Given the description of an element on the screen output the (x, y) to click on. 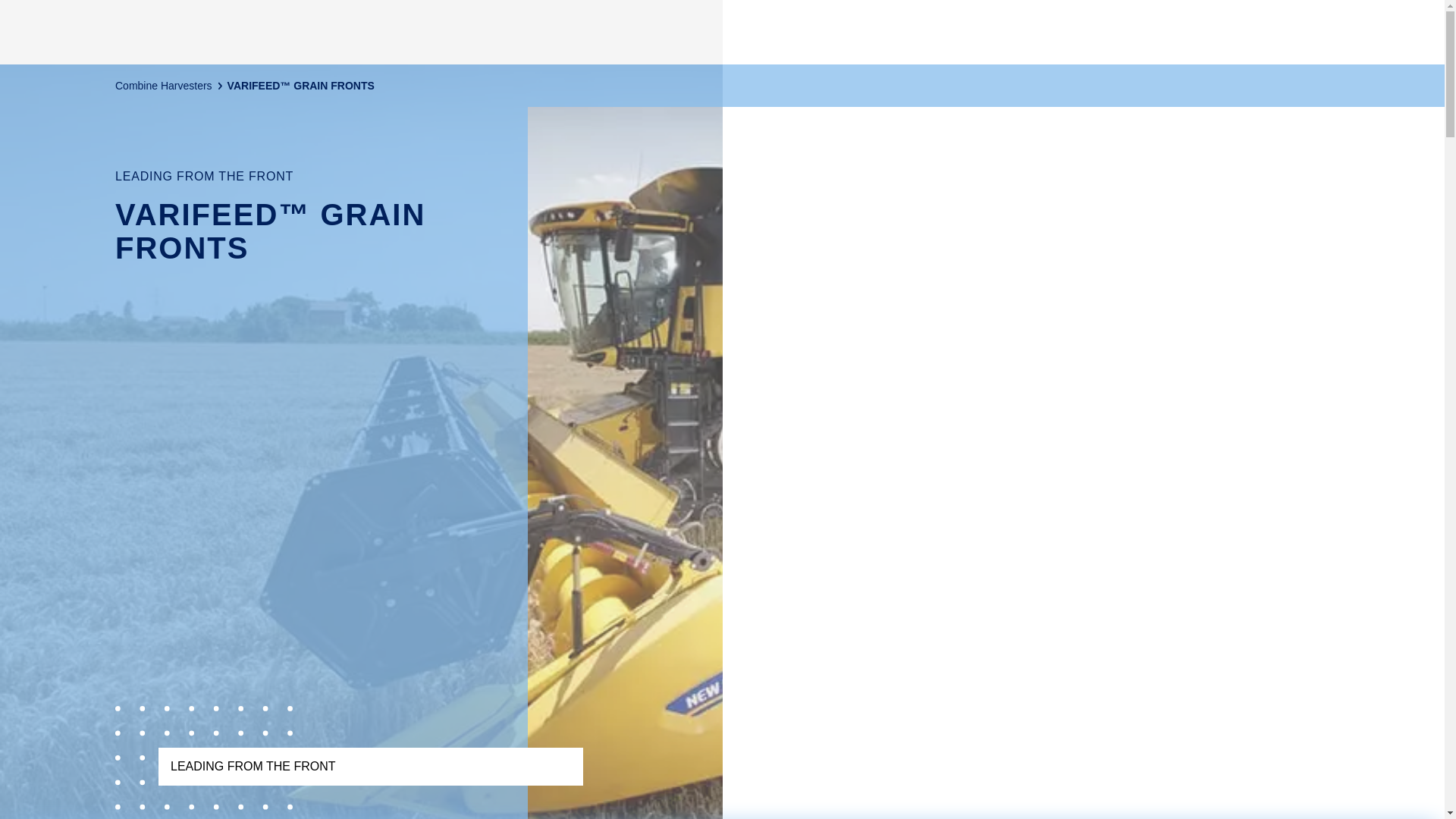
Combine Harvesters (163, 85)
